Given the description of an element on the screen output the (x, y) to click on. 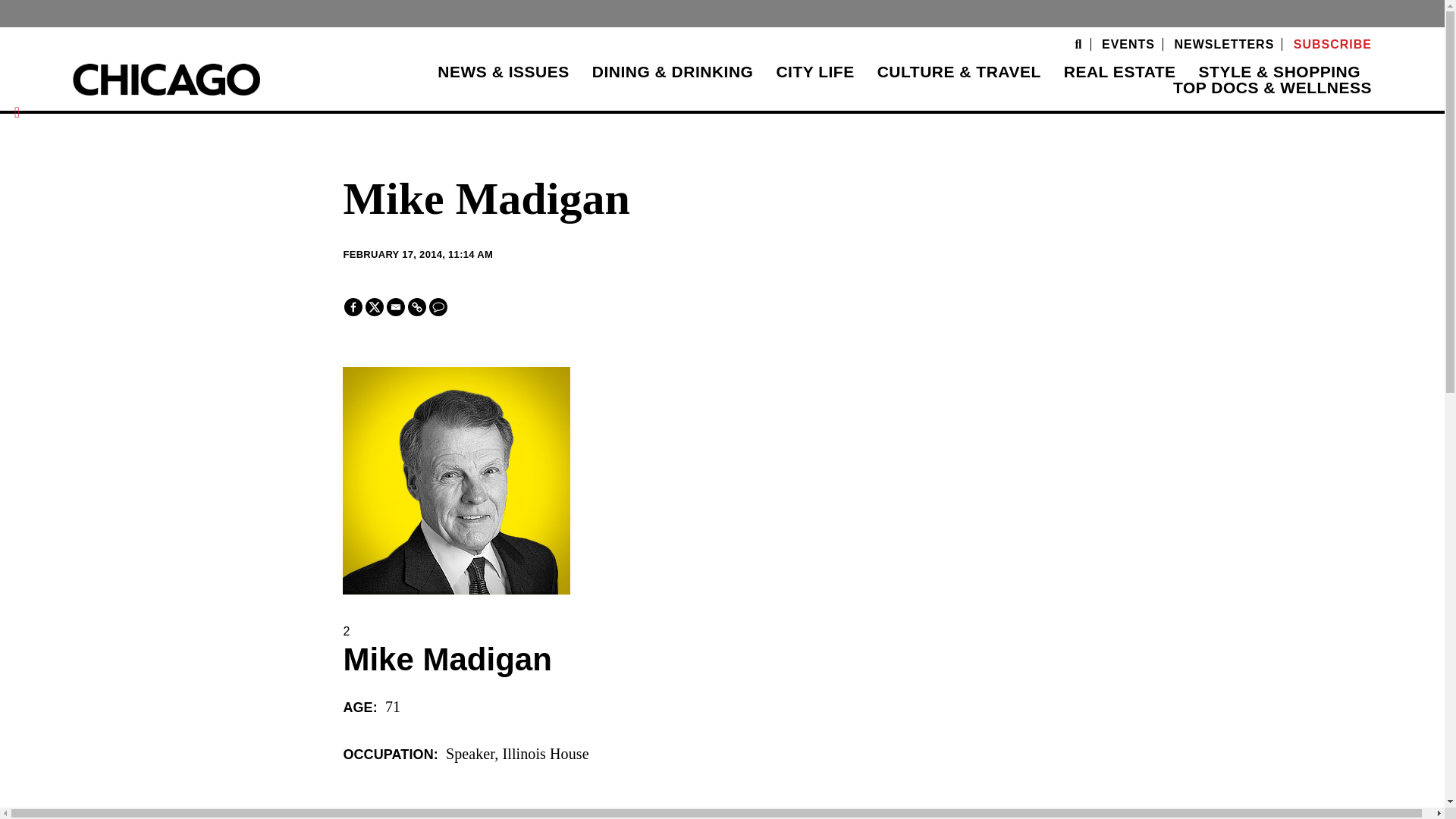
Facebook (352, 307)
NEWSLETTERS (1224, 43)
X (374, 307)
Copy Link (416, 307)
Email (395, 307)
EVENTS (1128, 43)
comment (437, 307)
